Given the description of an element on the screen output the (x, y) to click on. 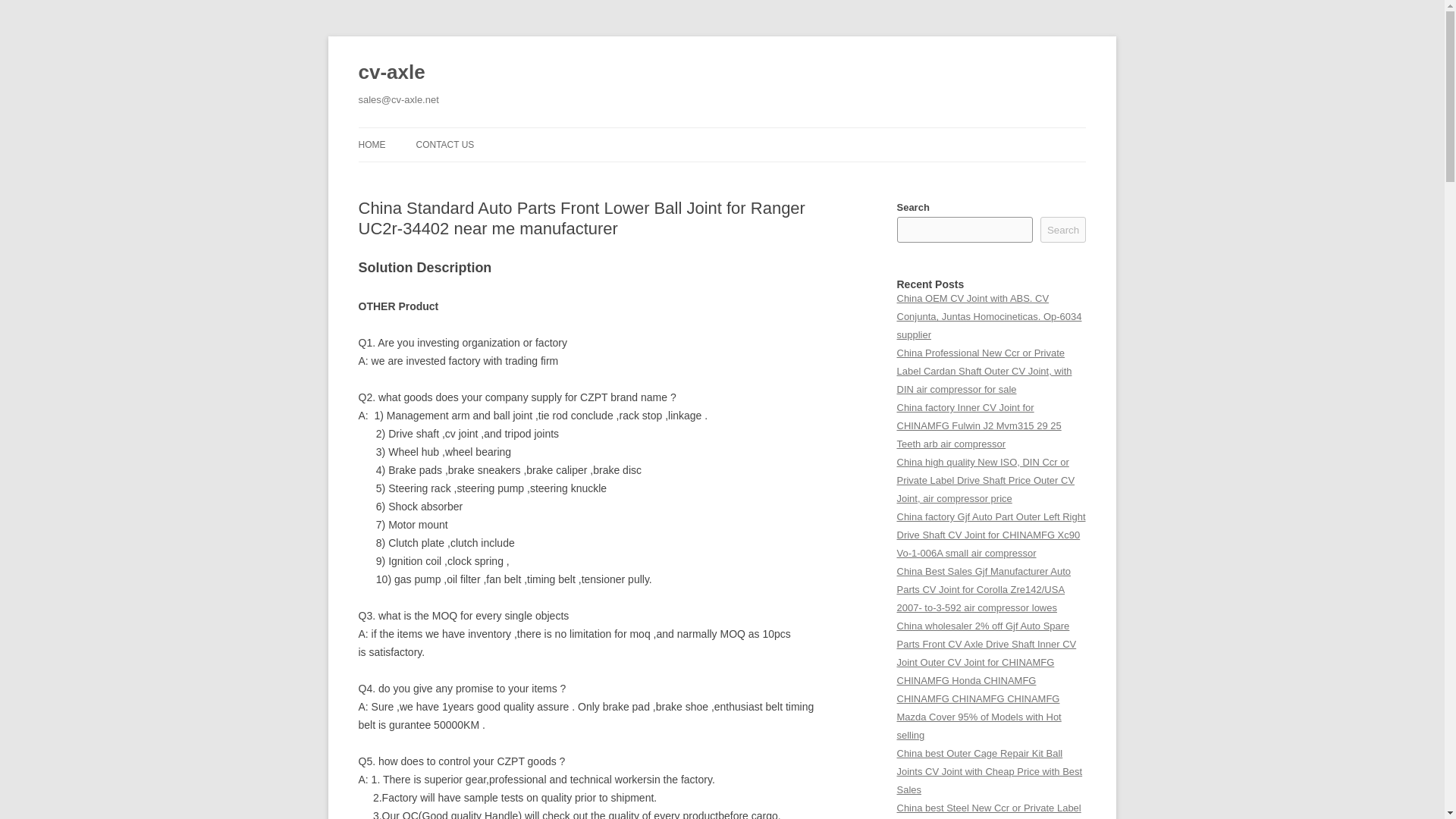
cv-axle (391, 72)
Search (1063, 229)
cv-axle (391, 72)
